Given the description of an element on the screen output the (x, y) to click on. 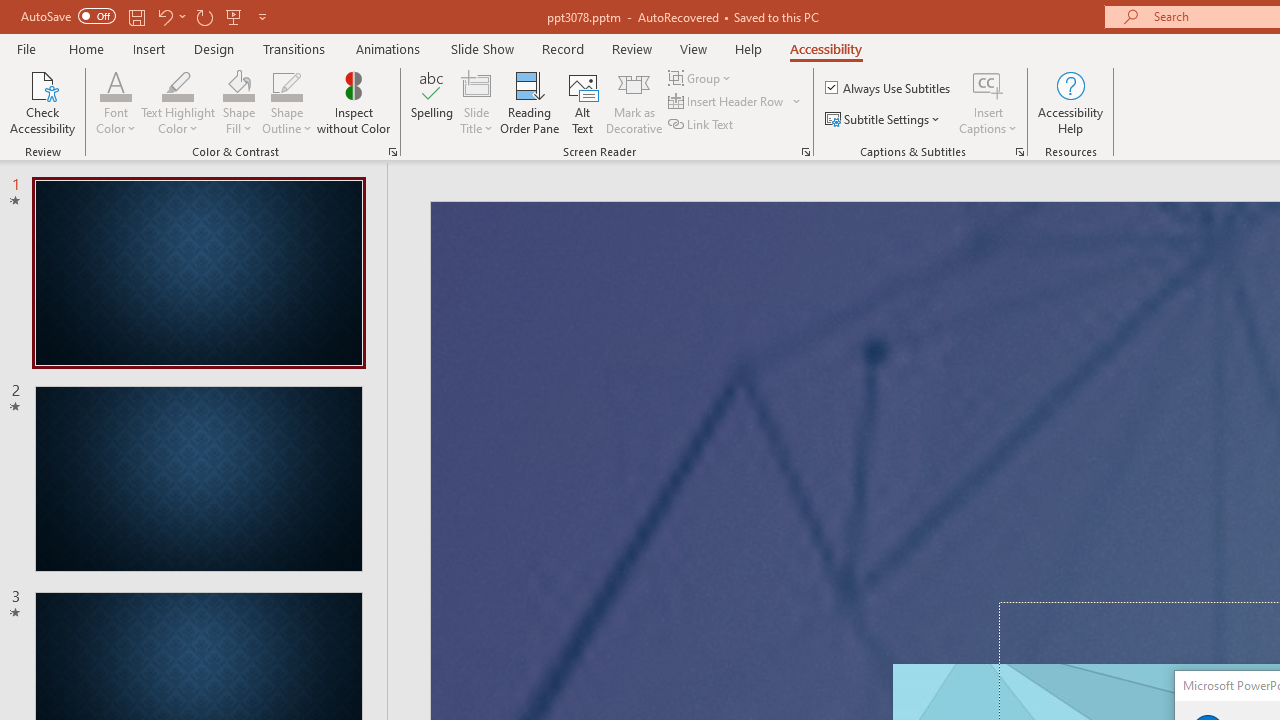
Insert Captions (988, 84)
Alt Text (582, 102)
Insert Header Row (735, 101)
Always Use Subtitles (889, 87)
Captions & Subtitles (1019, 151)
Inspect without Color (353, 102)
Font Color (116, 84)
Shape Outline (286, 102)
Check Accessibility (42, 102)
Shape Outline (286, 84)
